Given the description of an element on the screen output the (x, y) to click on. 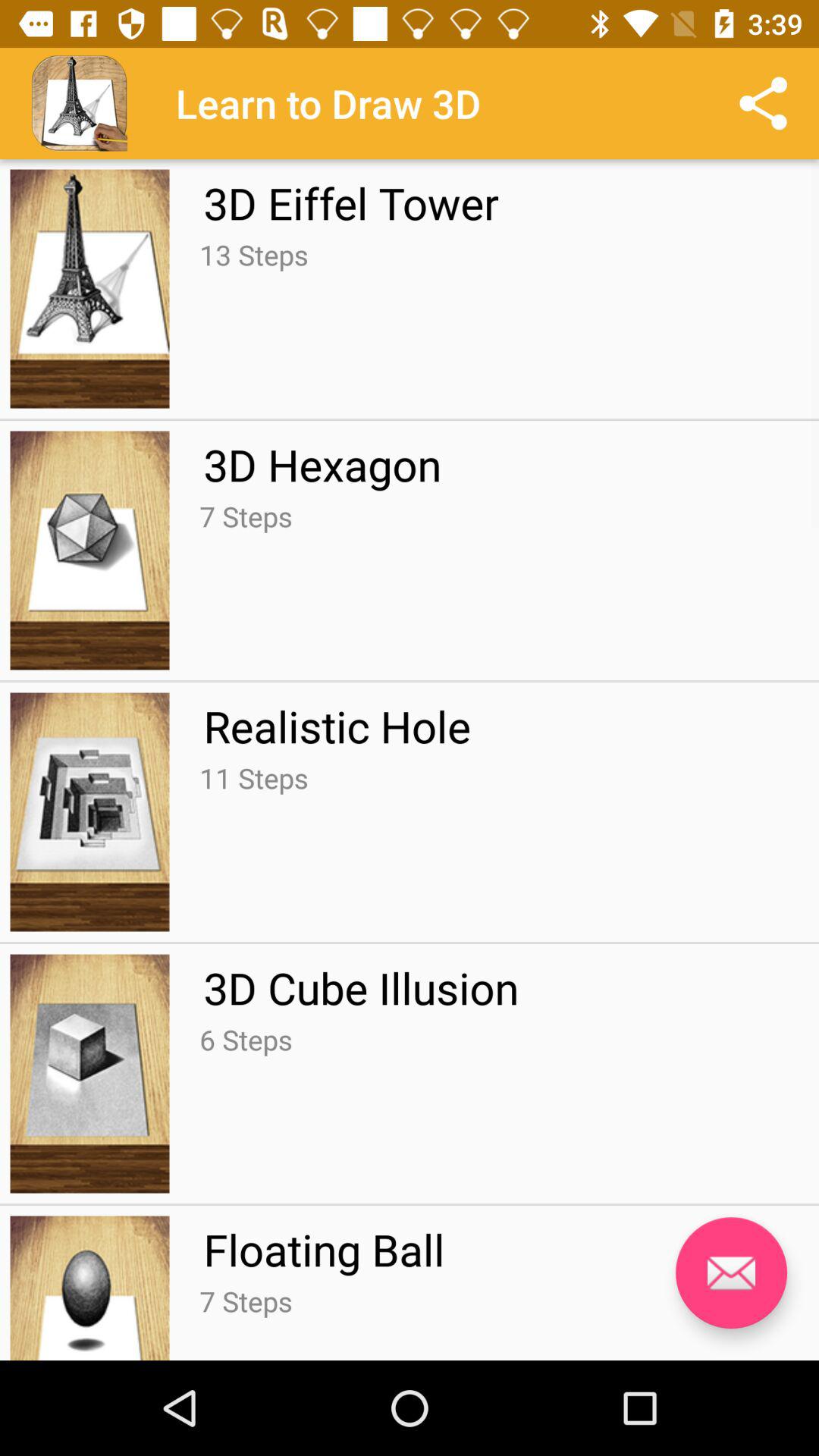
launch the item above the 3d cube illusion app (253, 777)
